Given the description of an element on the screen output the (x, y) to click on. 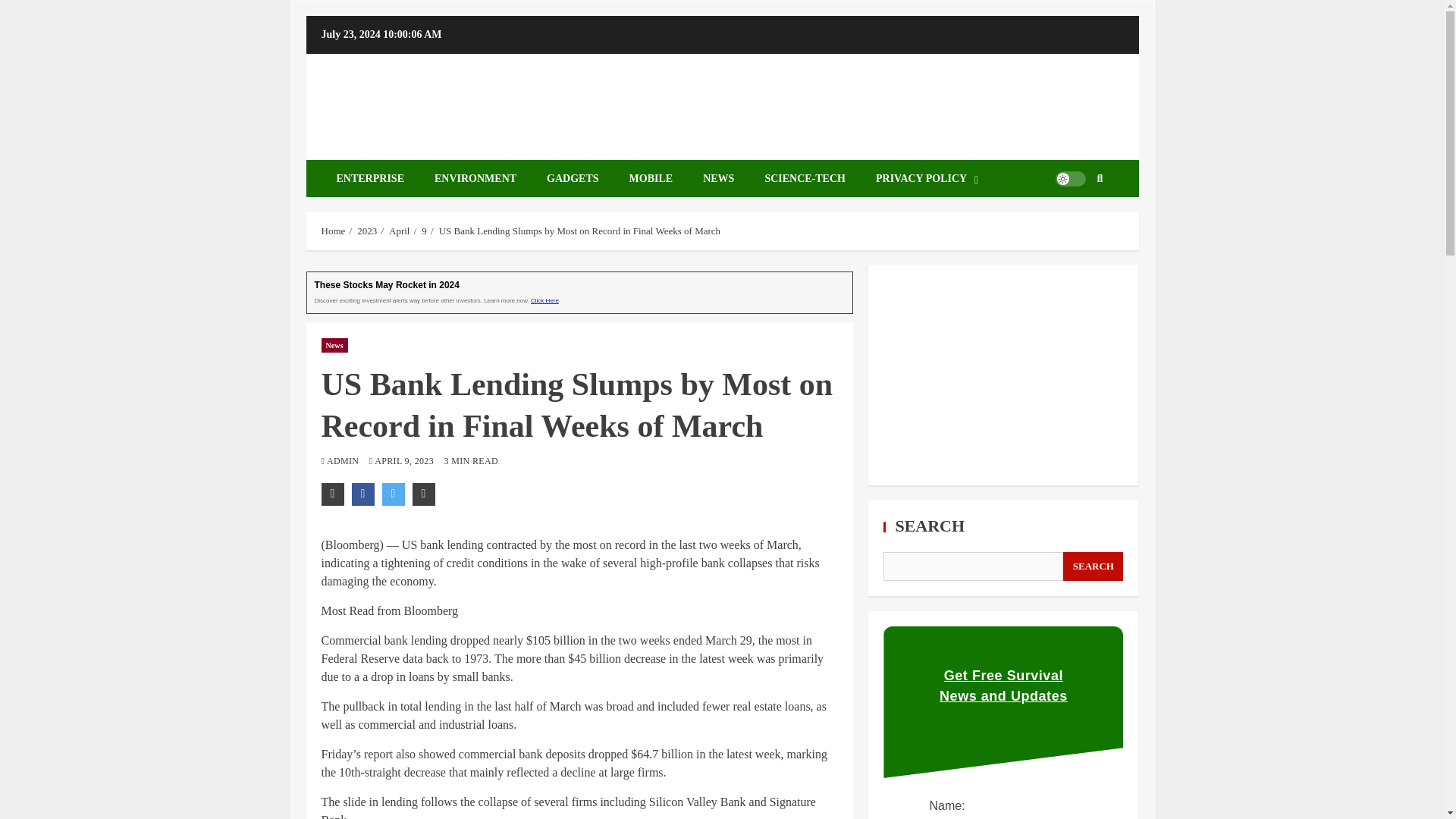
ENVIRONMENT (475, 178)
NEWS (718, 178)
GADGETS (571, 178)
Home (333, 230)
MOBILE (651, 178)
April (398, 230)
PRIVACY POLICY (926, 178)
ENTERPRISE (370, 178)
2023 (366, 230)
News (334, 345)
ADMIN (343, 460)
Search (1076, 224)
